Given the description of an element on the screen output the (x, y) to click on. 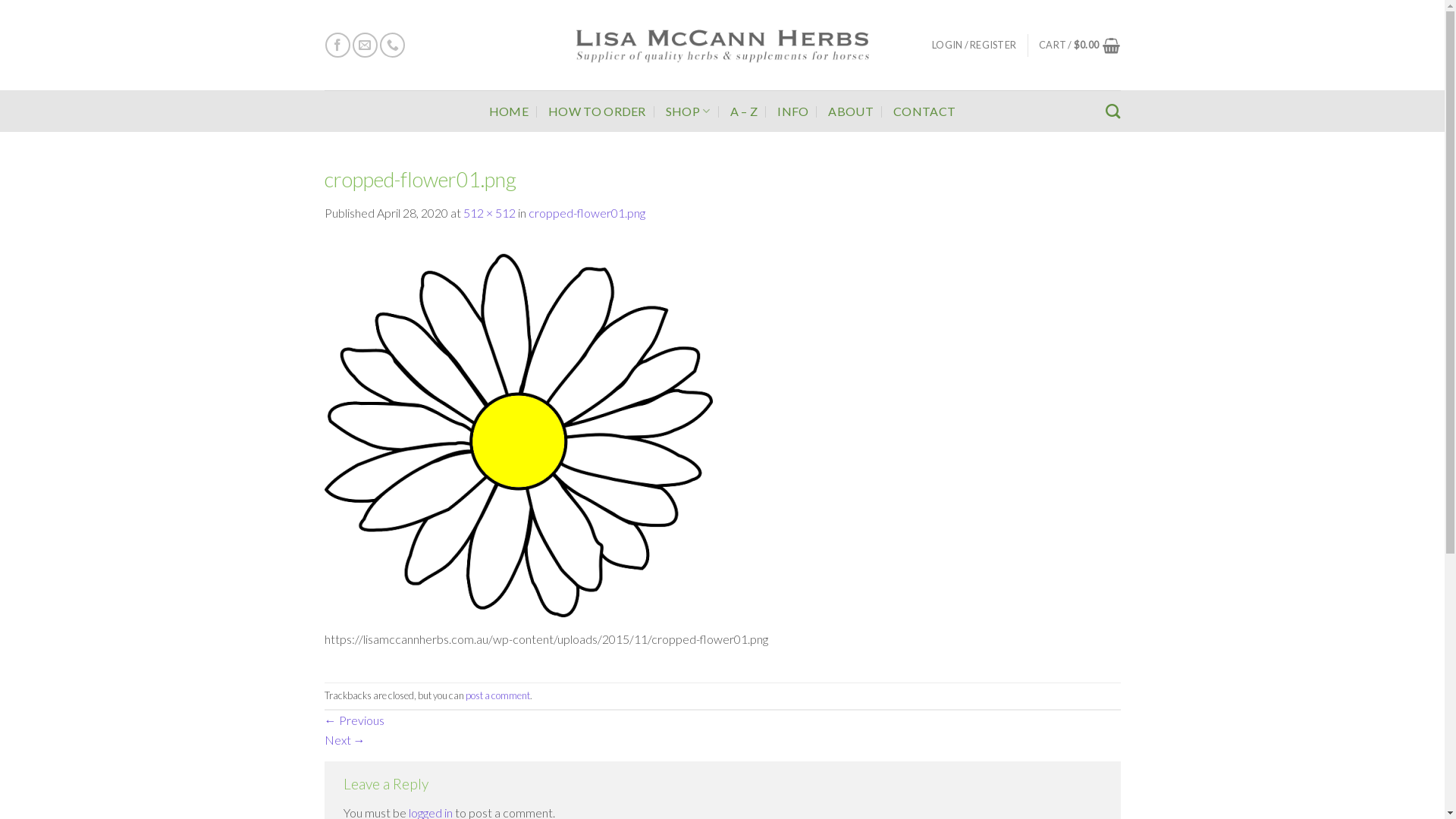
LOGIN / REGISTER Element type: text (973, 44)
CART / $0.00 Element type: text (1079, 45)
CONTACT Element type: text (924, 110)
SHOP Element type: text (687, 110)
INFO Element type: text (792, 110)
post a comment Element type: text (497, 695)
cropped-flower01.png Element type: hover (518, 433)
cropped-flower01.png Element type: text (585, 212)
Send us an email Element type: hover (364, 44)
ABOUT Element type: text (850, 110)
HOME Element type: text (508, 110)
Call us Element type: hover (391, 44)
HOW TO ORDER Element type: text (597, 110)
Follow on Facebook Element type: hover (337, 44)
